Given the description of an element on the screen output the (x, y) to click on. 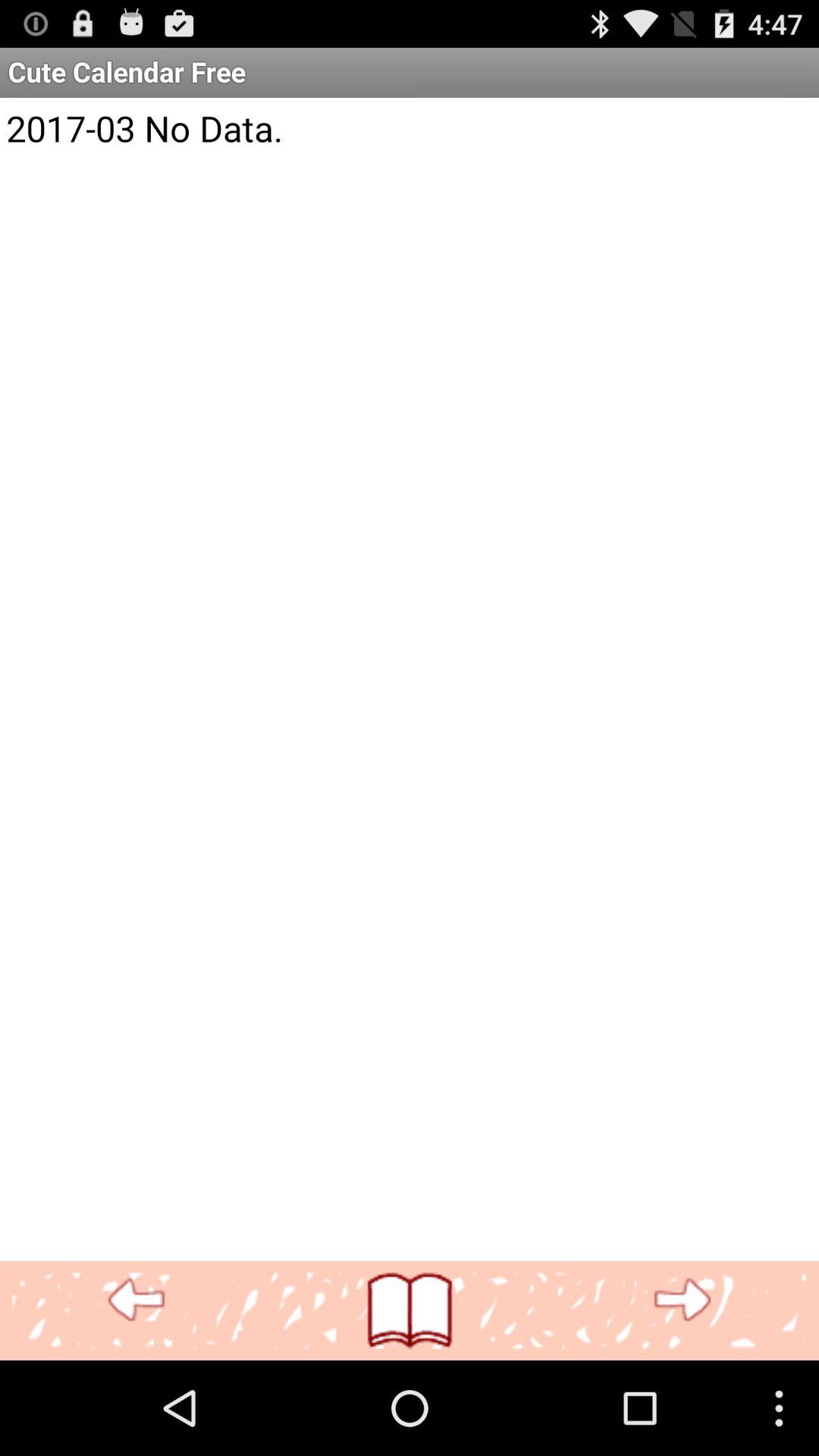
go back (136, 1300)
